Given the description of an element on the screen output the (x, y) to click on. 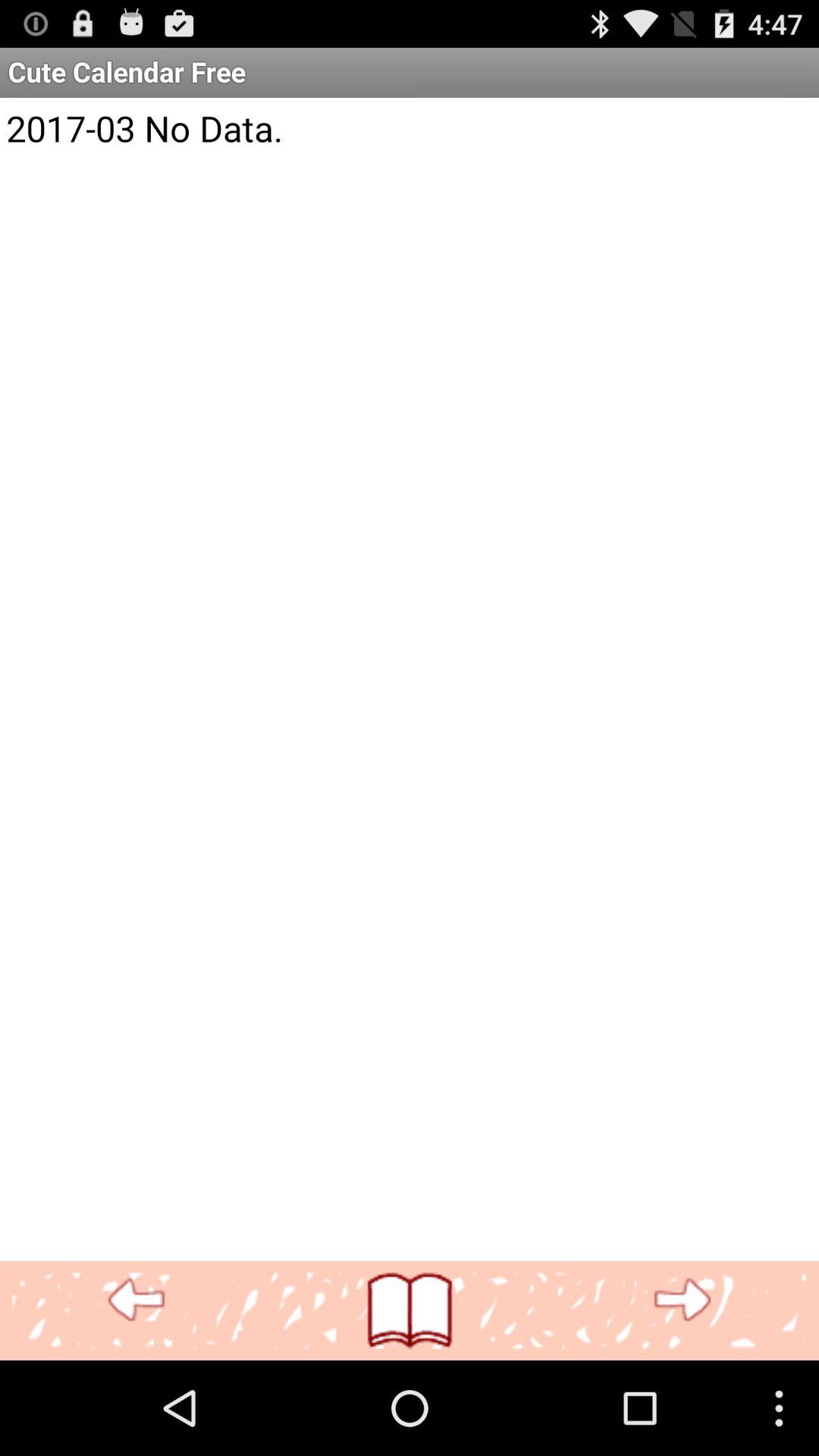
go back (136, 1300)
